Given the description of an element on the screen output the (x, y) to click on. 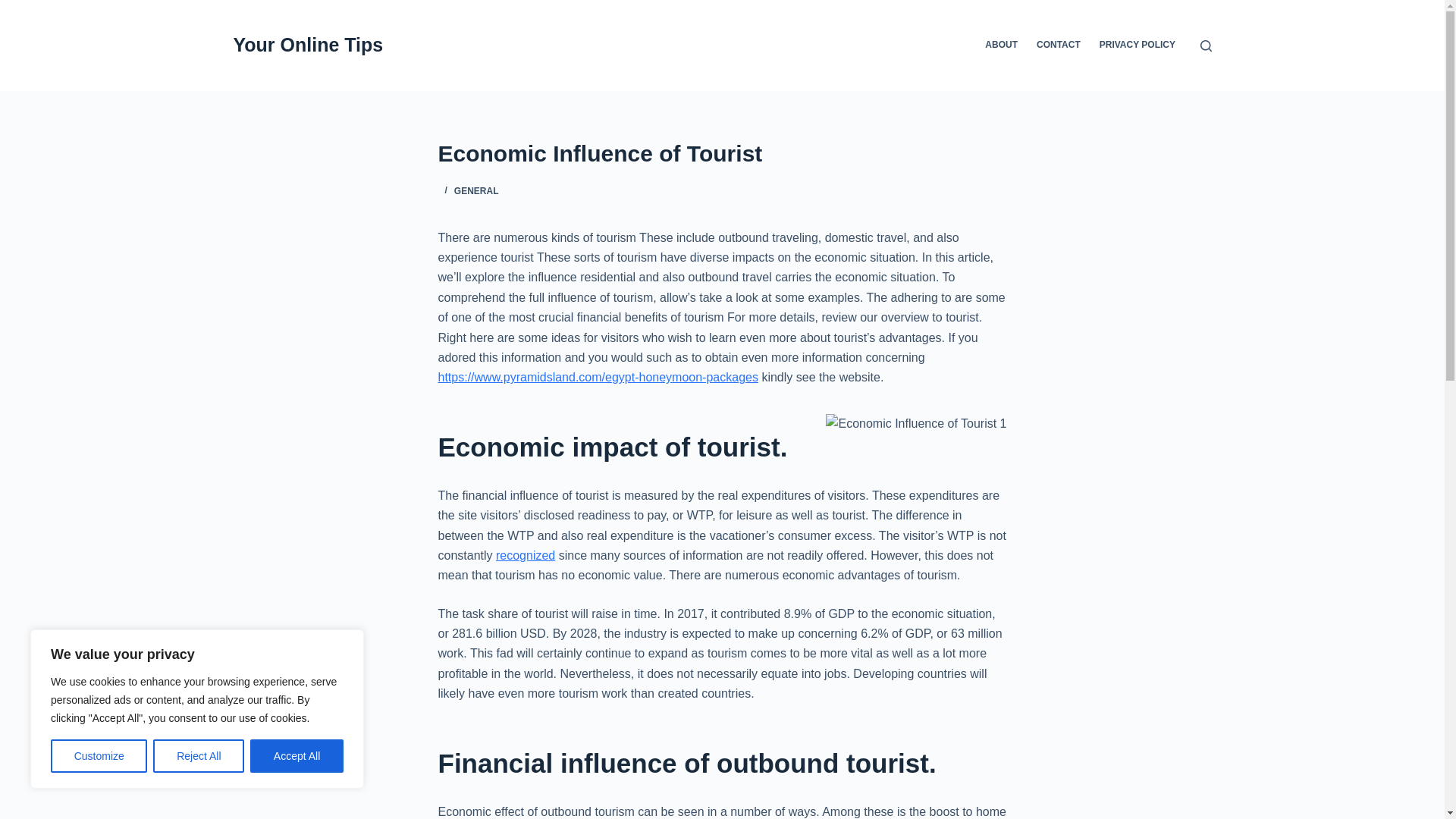
Reject All (198, 756)
ABOUT (1001, 45)
recognized (525, 554)
Your Online Tips (308, 44)
Economic Influence of Tourist (722, 153)
Customize (98, 756)
PRIVACY POLICY (1137, 45)
Accept All (296, 756)
GENERAL (476, 190)
CONTACT (1057, 45)
Skip to content (15, 7)
